Given the description of an element on the screen output the (x, y) to click on. 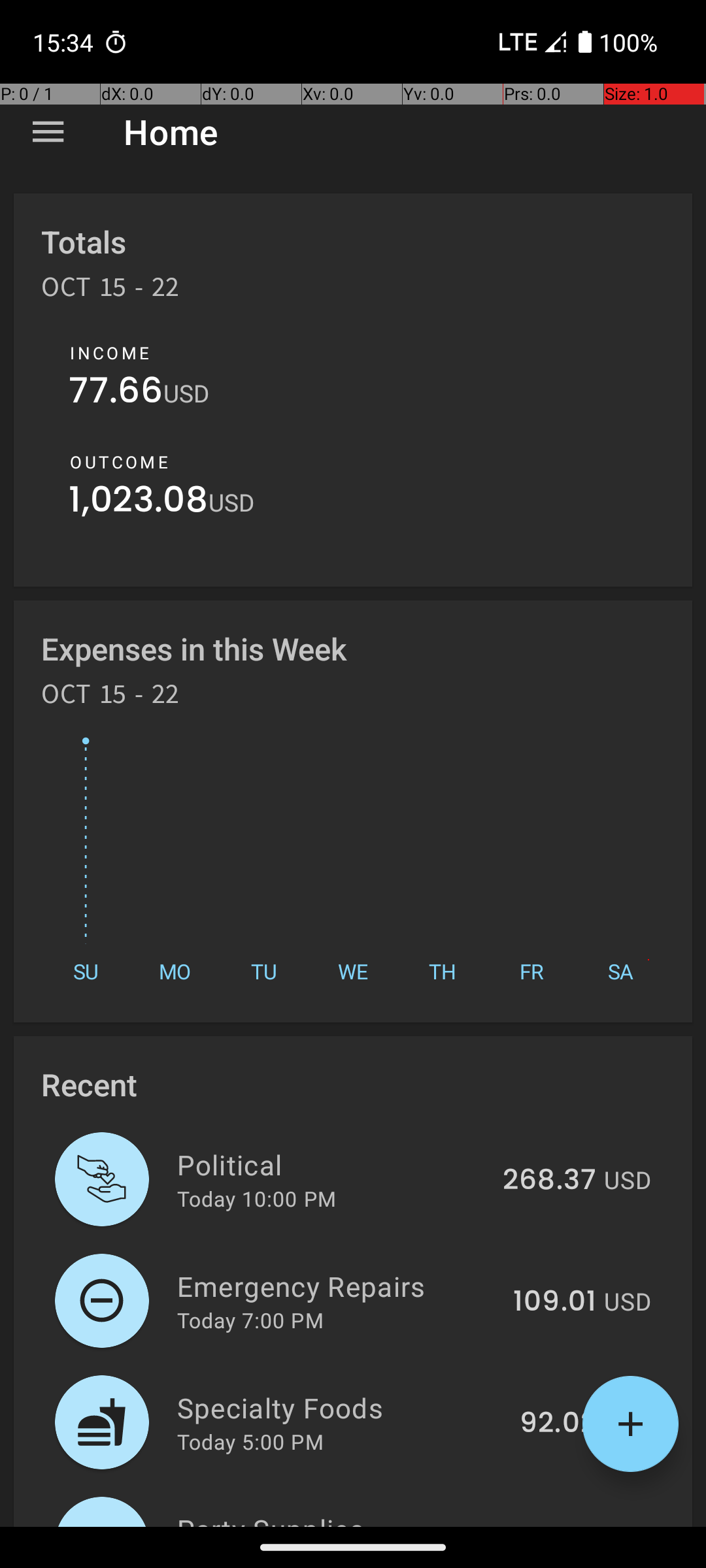
77.66 Element type: android.widget.TextView (115, 393)
1,023.08 Element type: android.widget.TextView (138, 502)
Political Element type: android.widget.TextView (332, 1164)
Today 10:00 PM Element type: android.widget.TextView (256, 1198)
268.37 Element type: android.widget.TextView (549, 1180)
Emergency Repairs Element type: android.widget.TextView (337, 1285)
109.01 Element type: android.widget.TextView (554, 1301)
Specialty Foods Element type: android.widget.TextView (340, 1407)
Today 5:00 PM Element type: android.widget.TextView (250, 1441)
92.02 Element type: android.widget.TextView (557, 1423)
Party Supplies Element type: android.widget.TextView (346, 1518)
195.1 Element type: android.widget.TextView (563, 1524)
